Given the description of an element on the screen output the (x, y) to click on. 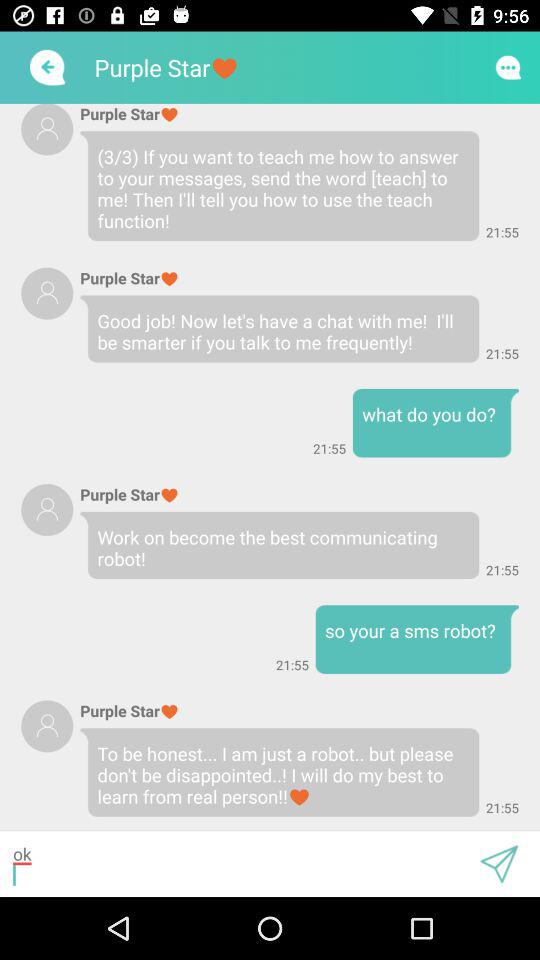
user profile picture (47, 293)
